Given the description of an element on the screen output the (x, y) to click on. 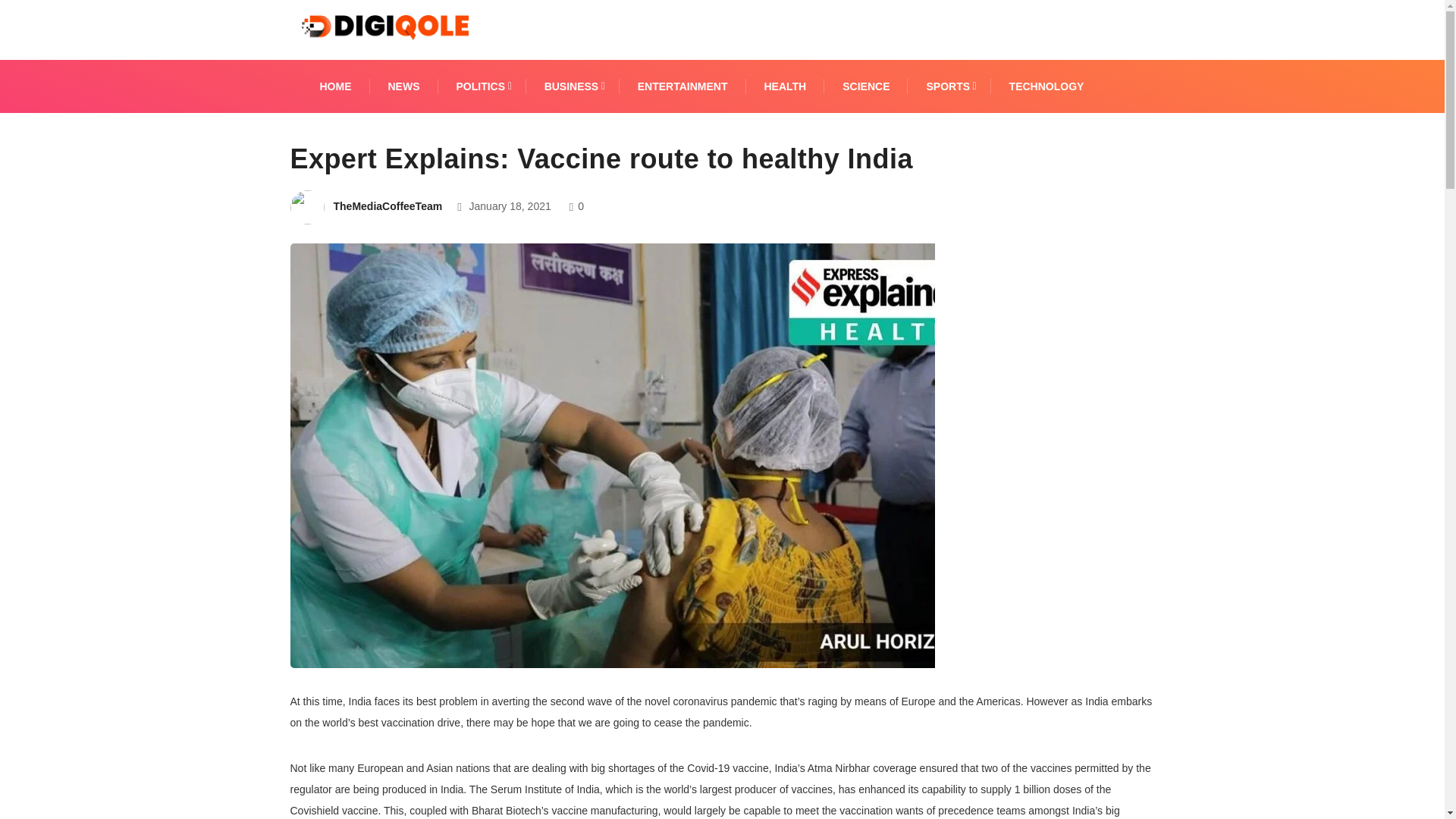
ENTERTAINMENT (682, 86)
BUSINESS (572, 86)
POLITICS (482, 86)
TECHNOLOGY (1046, 86)
TheMediaCoffeeTeam (387, 205)
